Given the description of an element on the screen output the (x, y) to click on. 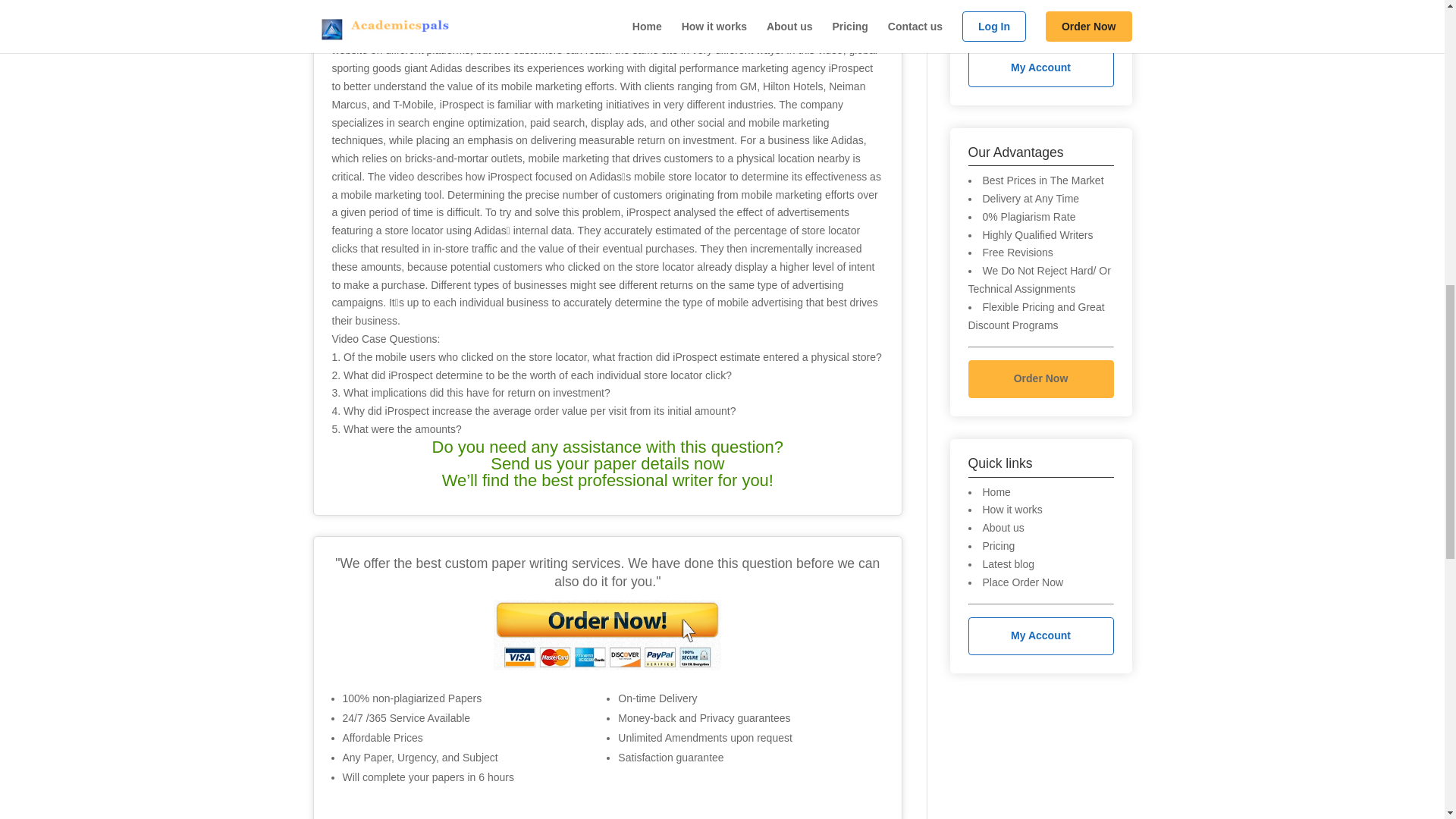
Home (996, 491)
About us (1003, 527)
My Account (1040, 636)
Latest blog (1008, 563)
Pricing (998, 545)
My Account (1040, 67)
Order Now (1040, 379)
How it works (1012, 509)
Place Order Now (1023, 582)
